Given the description of an element on the screen output the (x, y) to click on. 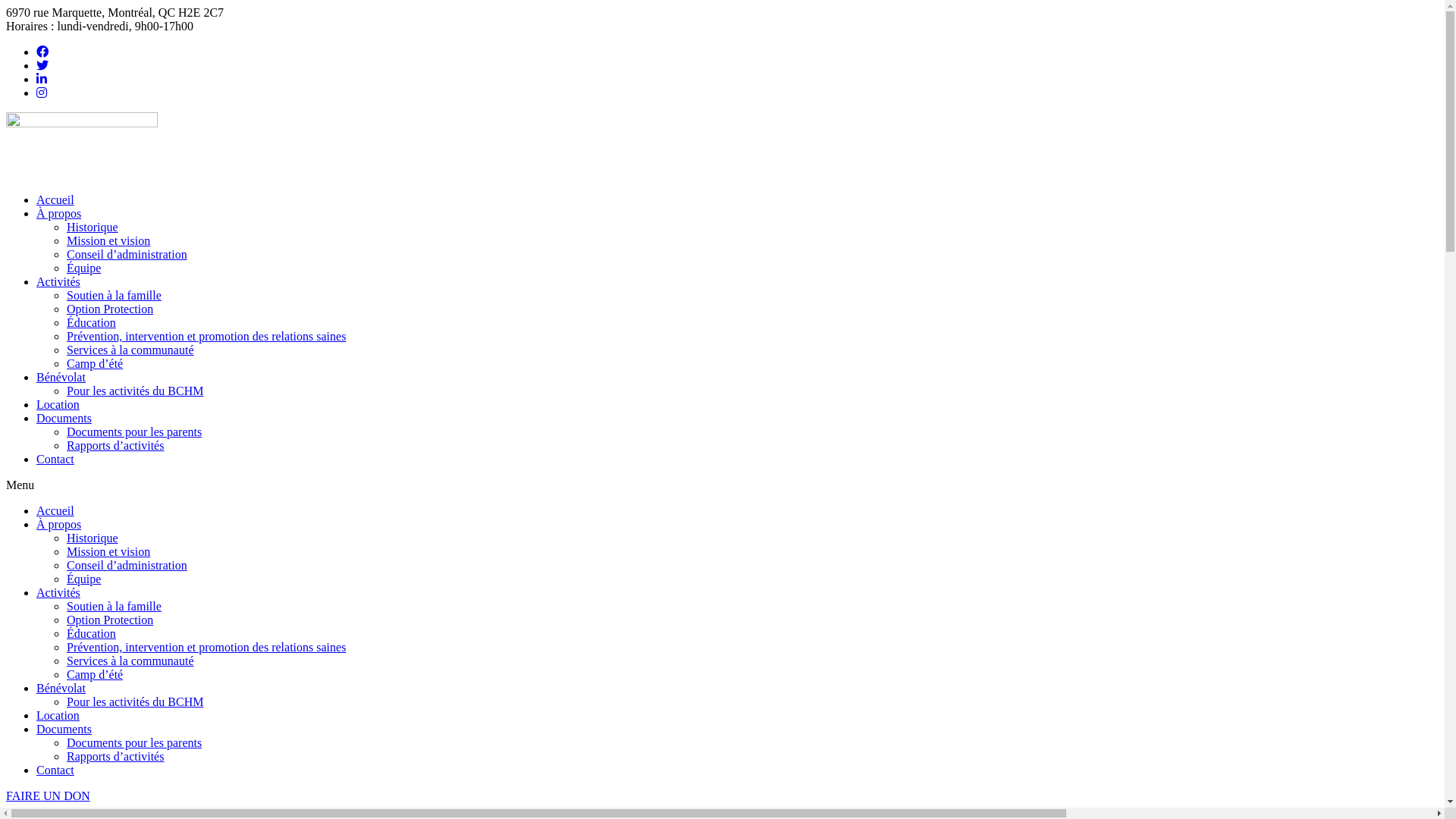
Historique Element type: text (92, 537)
Contact Element type: text (55, 769)
Mission et vision Element type: text (108, 551)
Accueil Element type: text (55, 199)
Accueil Element type: text (55, 510)
Location Element type: text (57, 715)
Historique Element type: text (92, 226)
Option Protection Element type: text (109, 619)
Contact Element type: text (55, 458)
Mission et vision Element type: text (108, 240)
Documents pour les parents Element type: text (133, 742)
Documents Element type: text (63, 417)
Option Protection Element type: text (109, 308)
Documents pour les parents Element type: text (133, 431)
Skip to content Element type: text (5, 5)
Location Element type: text (57, 404)
Documents Element type: text (63, 728)
FAIRE UN DON Element type: text (48, 795)
